Given the description of an element on the screen output the (x, y) to click on. 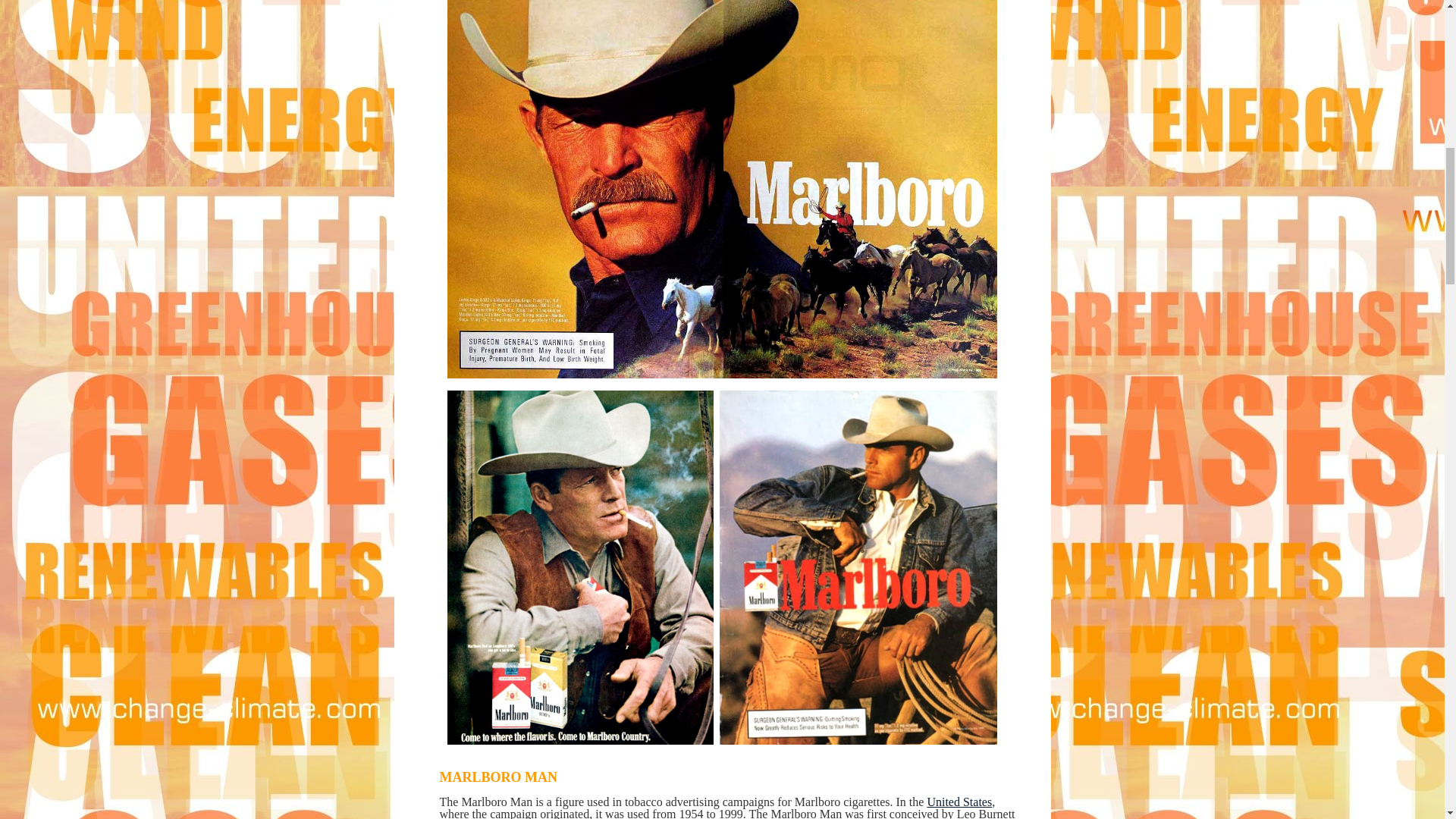
United States (958, 801)
